Given the description of an element on the screen output the (x, y) to click on. 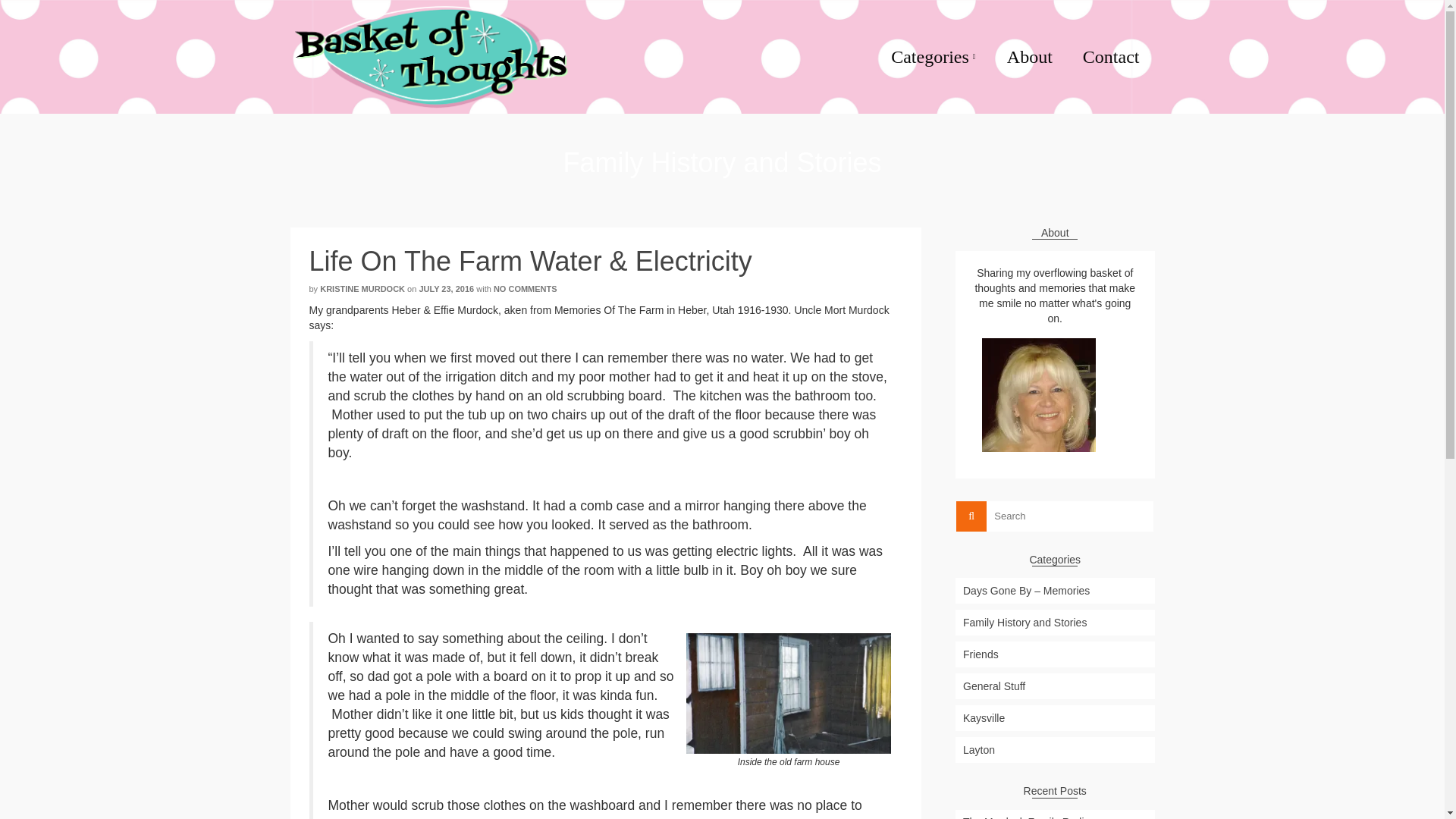
Contact (1110, 56)
Categories (933, 56)
Friends (1054, 654)
The Murdock Family Radio (1054, 814)
About (1029, 56)
General Stuff (1054, 686)
NO COMMENTS (525, 288)
Family History and Stories (1054, 622)
Kaysville (1054, 718)
KRISTINE MURDOCK (362, 288)
Layton (1054, 749)
